Given the description of an element on the screen output the (x, y) to click on. 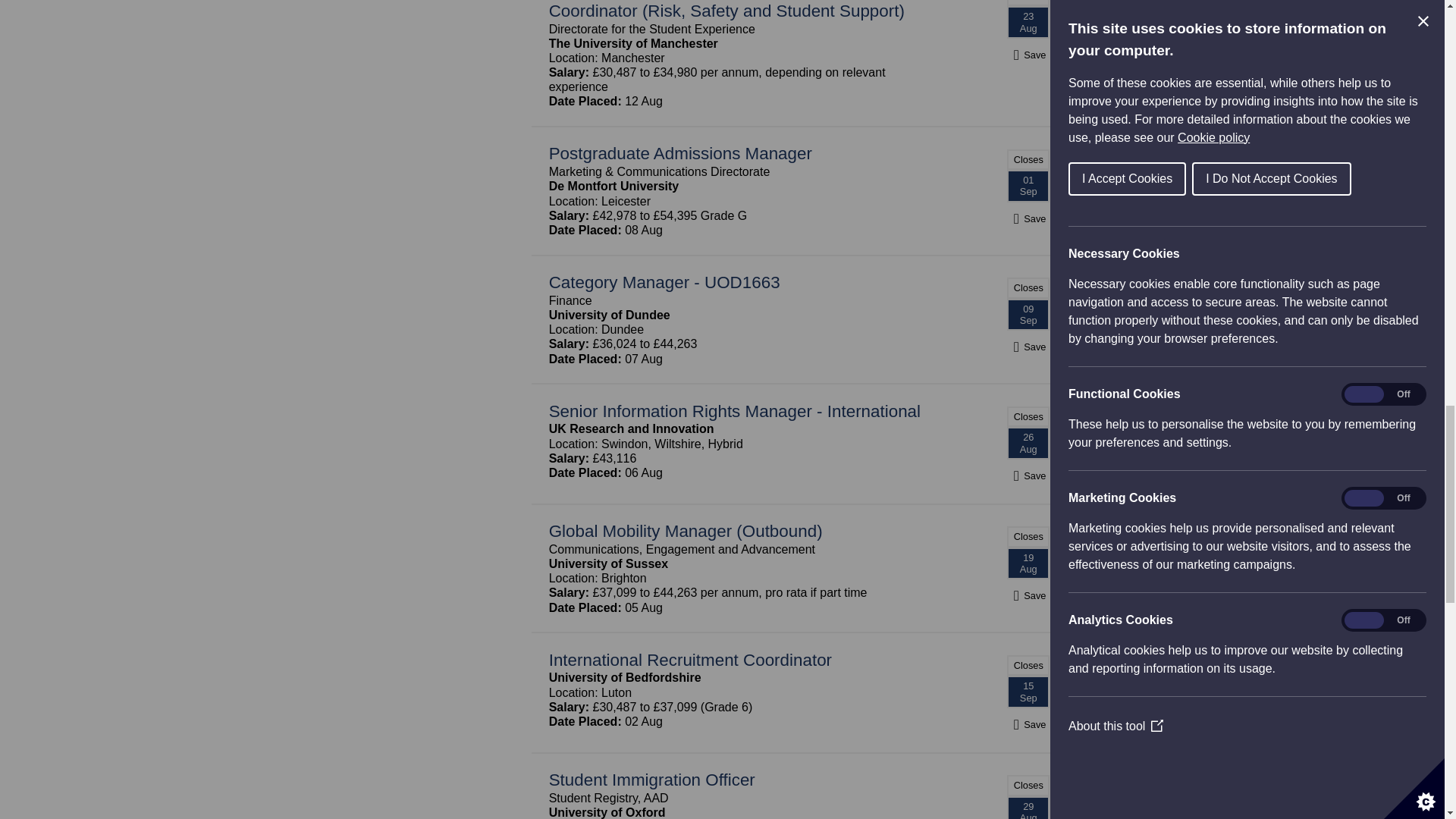
Save job (1027, 346)
Save job (1027, 54)
Save job (1027, 595)
Save job (1027, 218)
Save job (1027, 475)
